Given the description of an element on the screen output the (x, y) to click on. 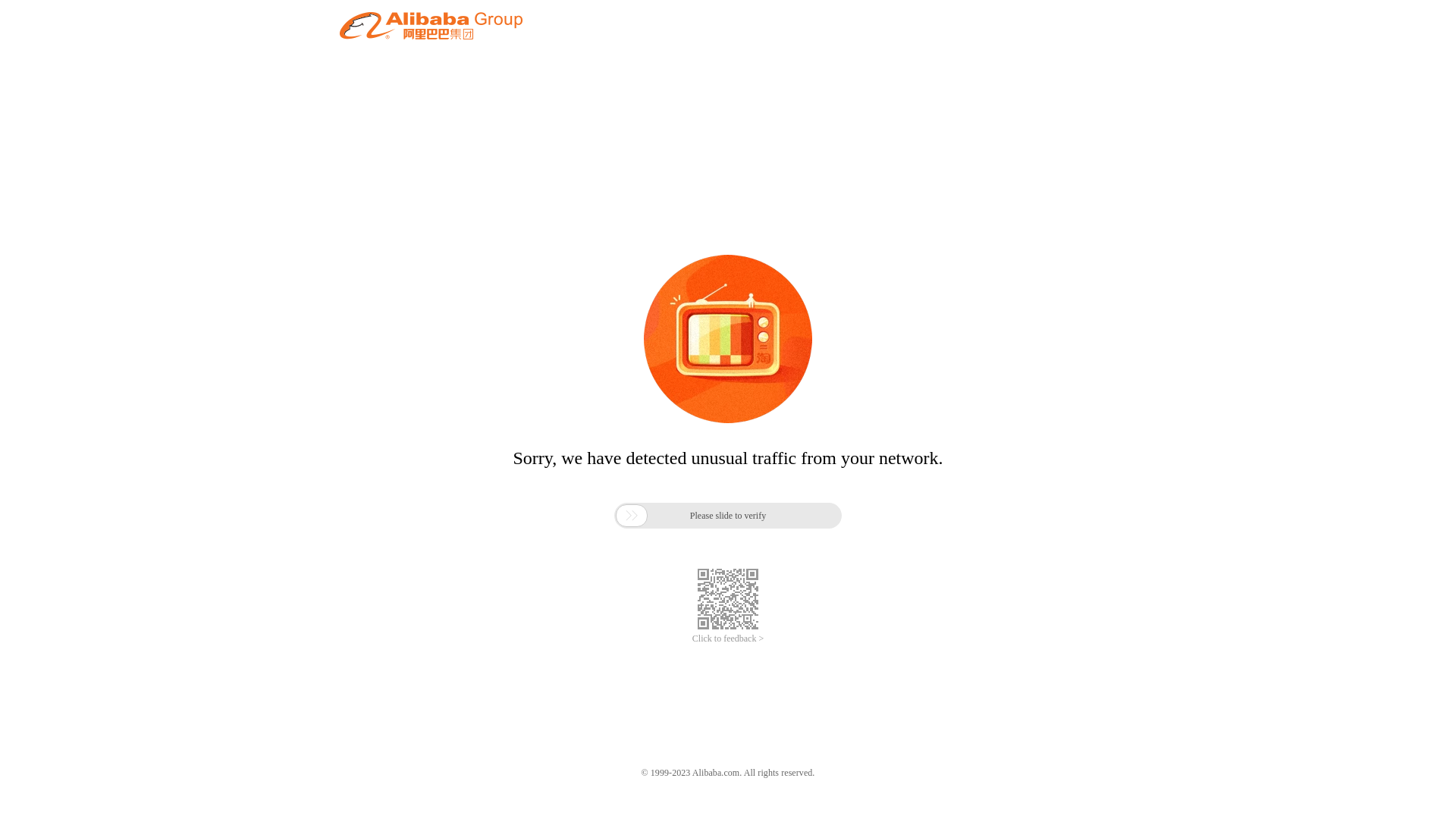
Click to feedback > Element type: text (727, 638)
